Given the description of an element on the screen output the (x, y) to click on. 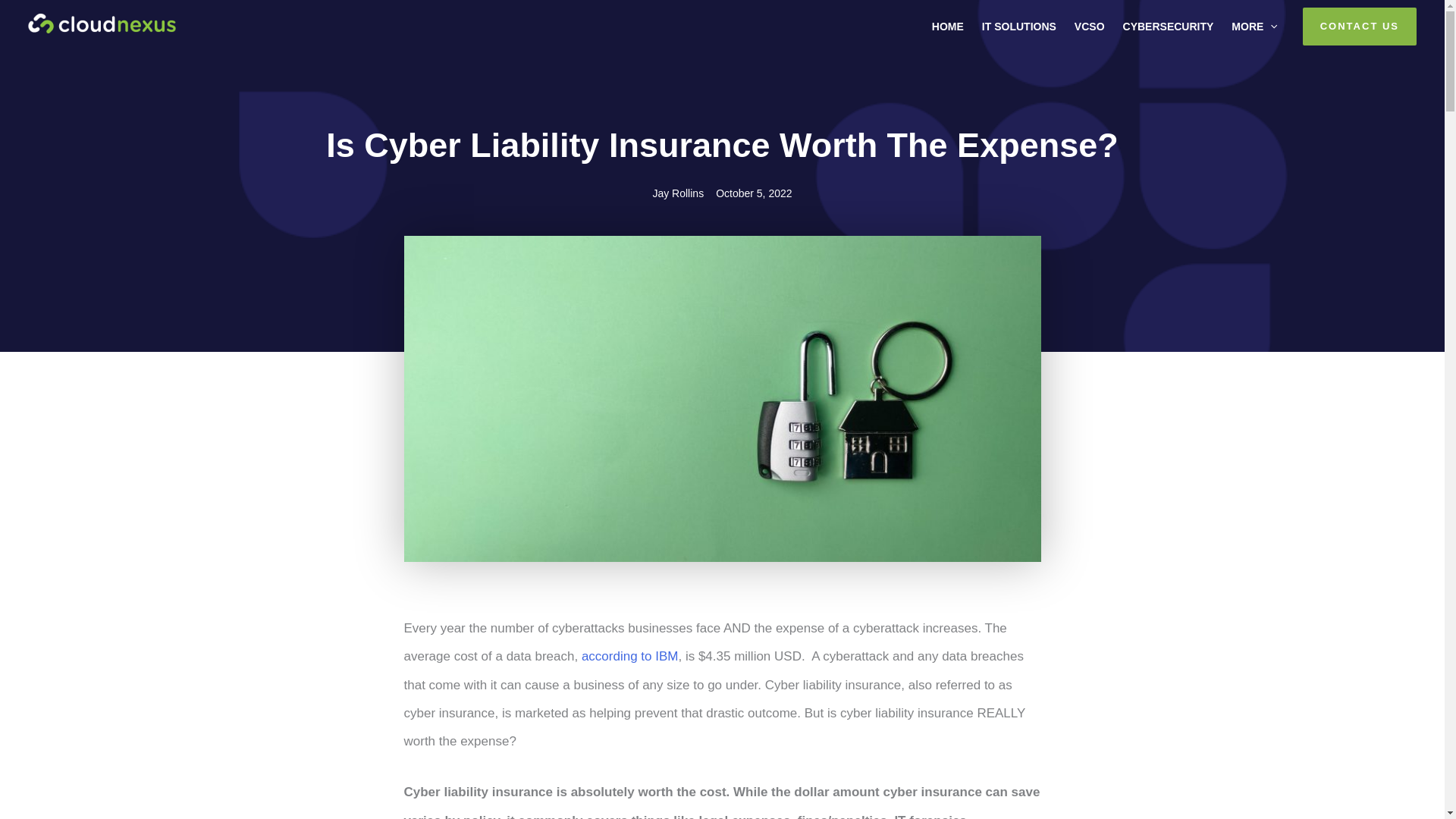
HOME (946, 26)
MORE (1252, 26)
CONTACT US (1359, 26)
CYBERSECURITY (1166, 26)
IT SOLUTIONS (1017, 26)
VCSO (1088, 26)
Jay Rollins (677, 193)
